Given the description of an element on the screen output the (x, y) to click on. 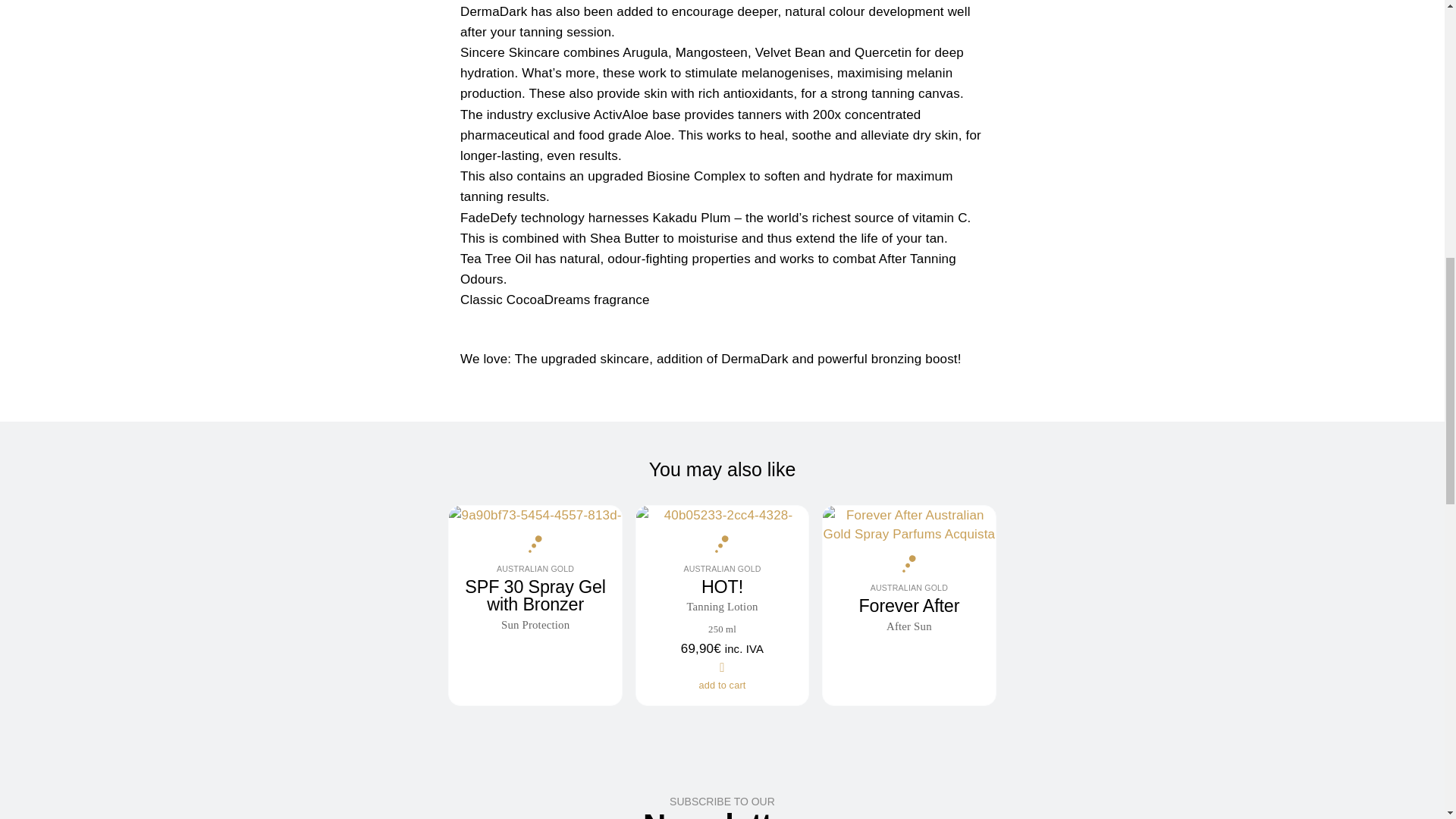
add to cart (534, 569)
